Given the description of an element on the screen output the (x, y) to click on. 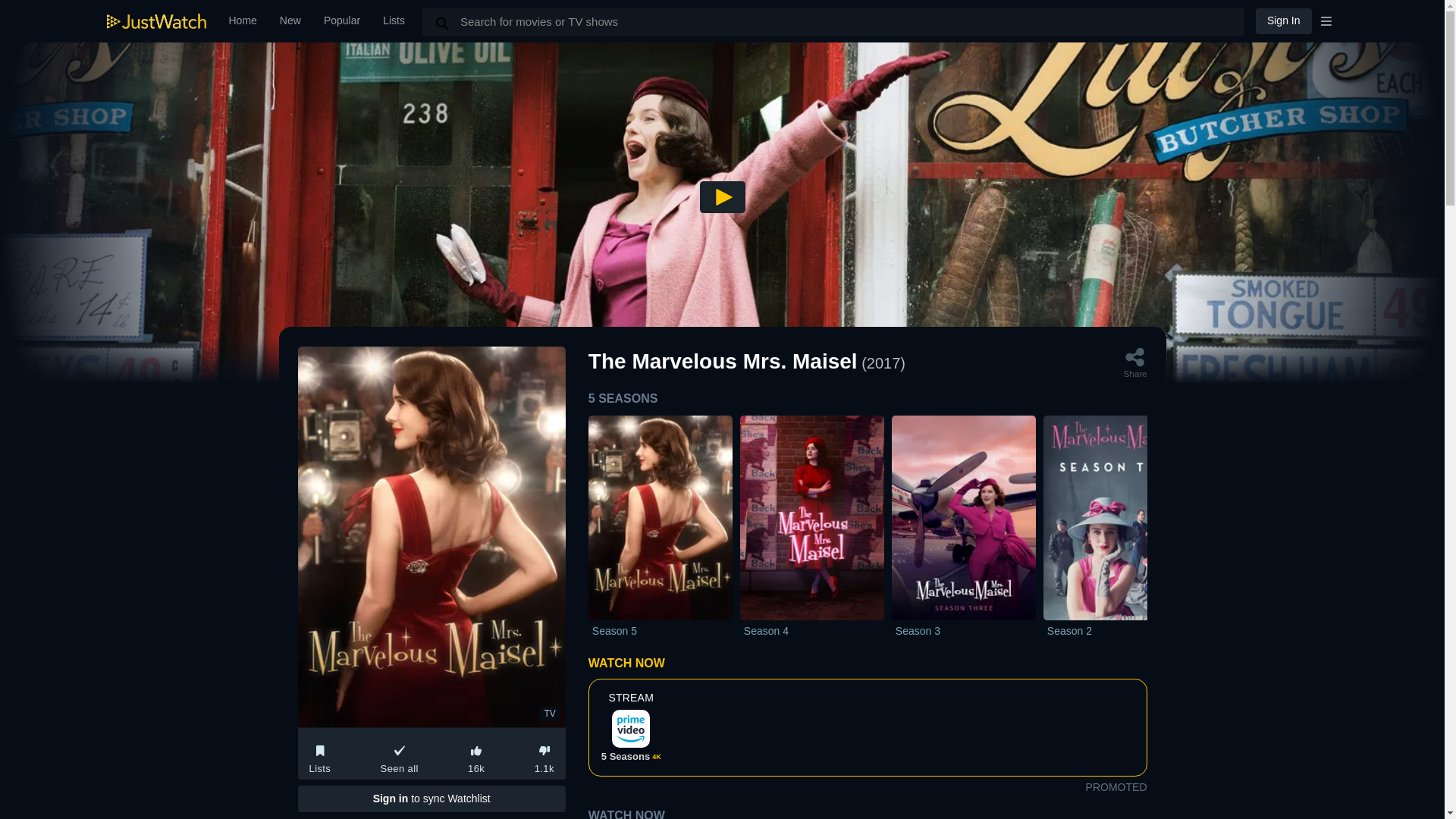
Popular (342, 21)
Seen all (399, 753)
Lists (631, 737)
Sign In (867, 528)
Sign in to sync Watchlist (393, 21)
New (1283, 20)
Home (867, 528)
